Given the description of an element on the screen output the (x, y) to click on. 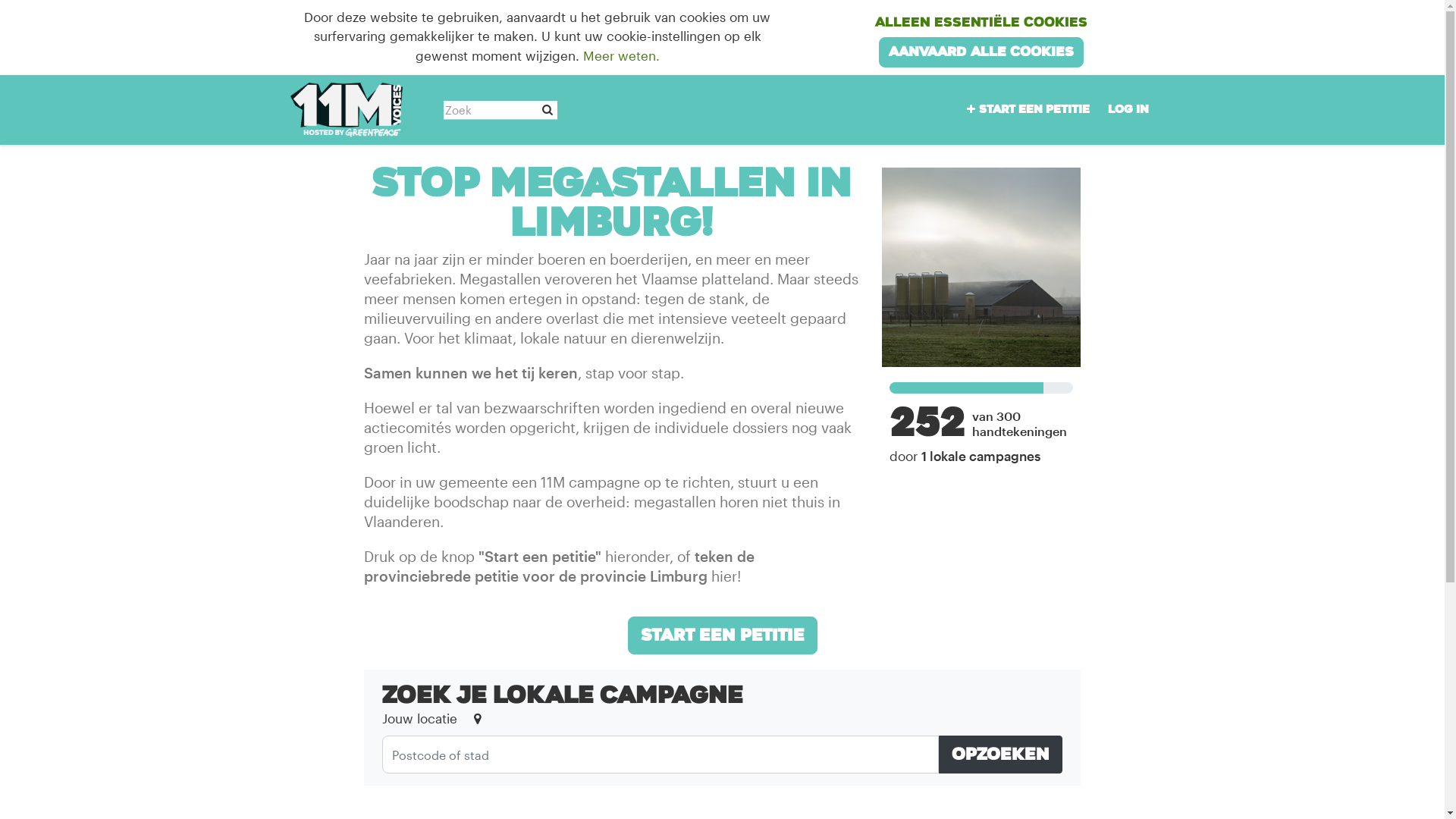
START EEN PETITIE Element type: text (722, 635)
LOG IN Element type: text (1127, 109)
AANVAARD ALLE COOKIES Element type: text (980, 51)
Skip to main content Element type: text (0, 0)
Opzoeken Element type: text (1000, 754)
Meer weten. Element type: text (621, 54)
START EEN PETITIE Element type: text (1026, 109)
